Given the description of an element on the screen output the (x, y) to click on. 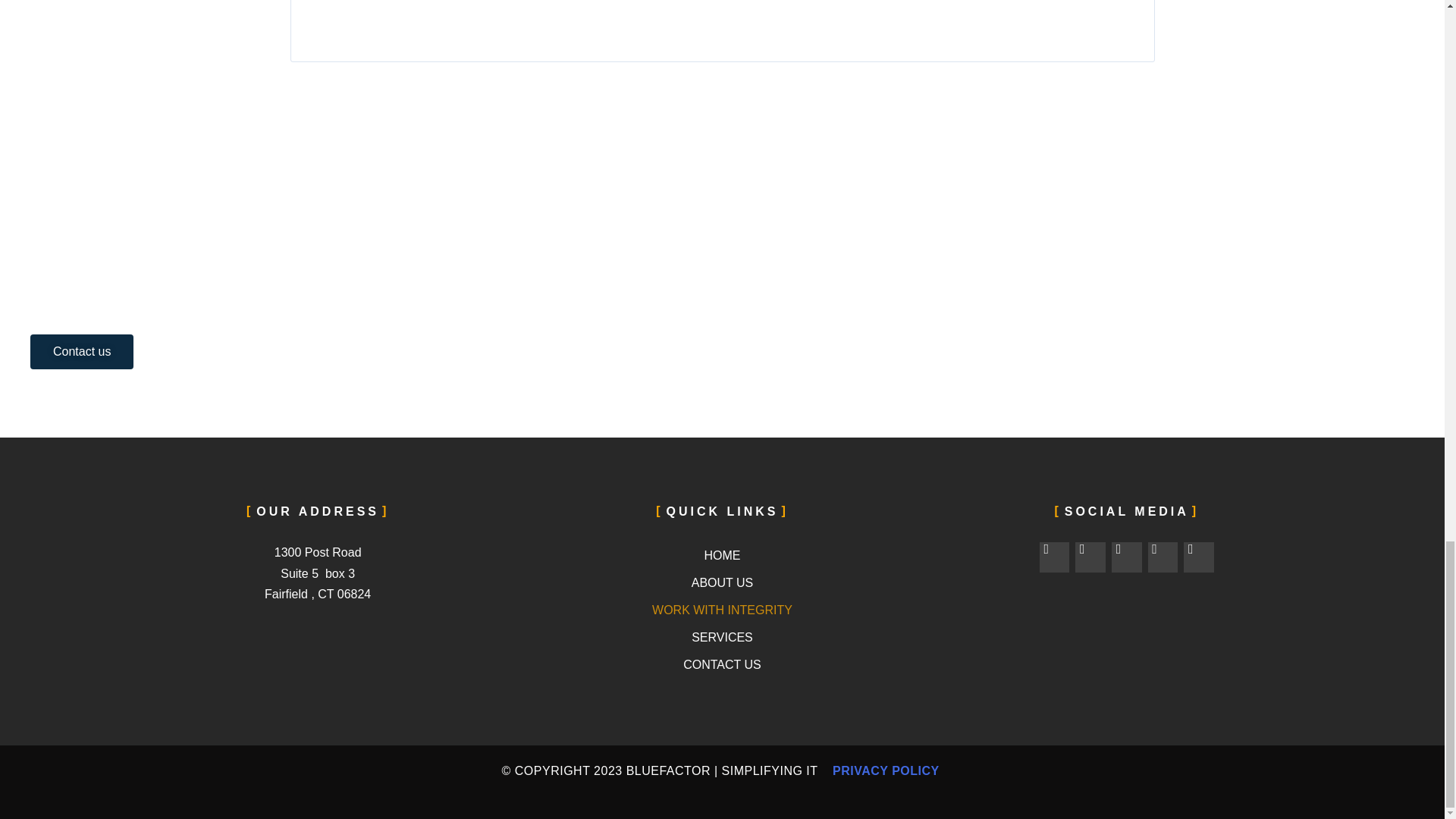
Instagram (1126, 557)
Contact us (81, 351)
 PRIVACY POLICY  (885, 770)
CONTACT US (722, 664)
X-twitter-square (1090, 557)
ABOUT US (722, 583)
Facebook-f (1054, 557)
Tiktok (1198, 557)
Youtube (1162, 557)
WORK WITH INTEGRITY (722, 610)
